Given the description of an element on the screen output the (x, y) to click on. 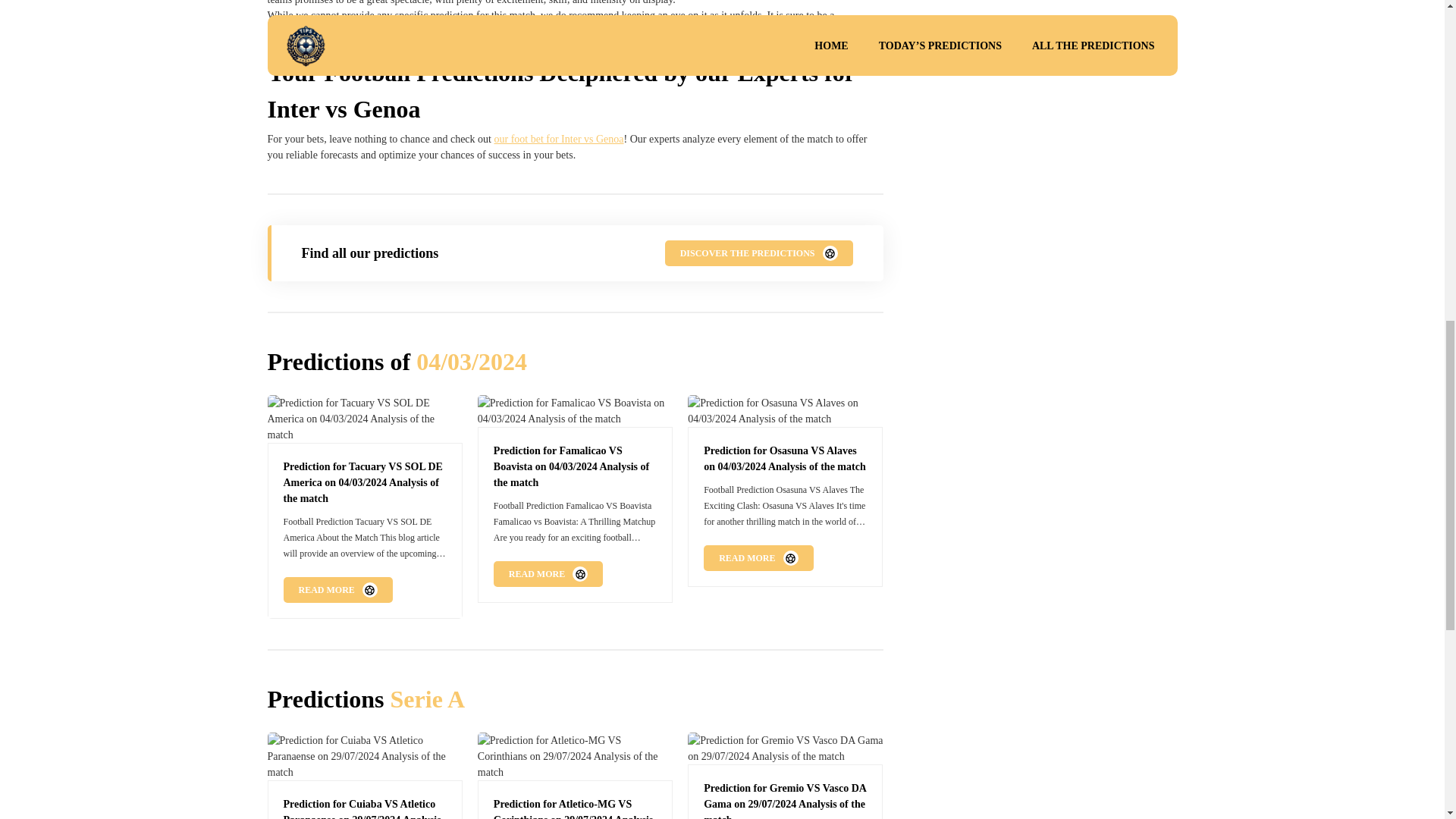
our foot bet for Inter vs Genoa (558, 138)
READ MORE (757, 557)
READ MORE (547, 574)
READ MORE (338, 589)
DISCOVER THE PREDICTIONS (759, 253)
